Given the description of an element on the screen output the (x, y) to click on. 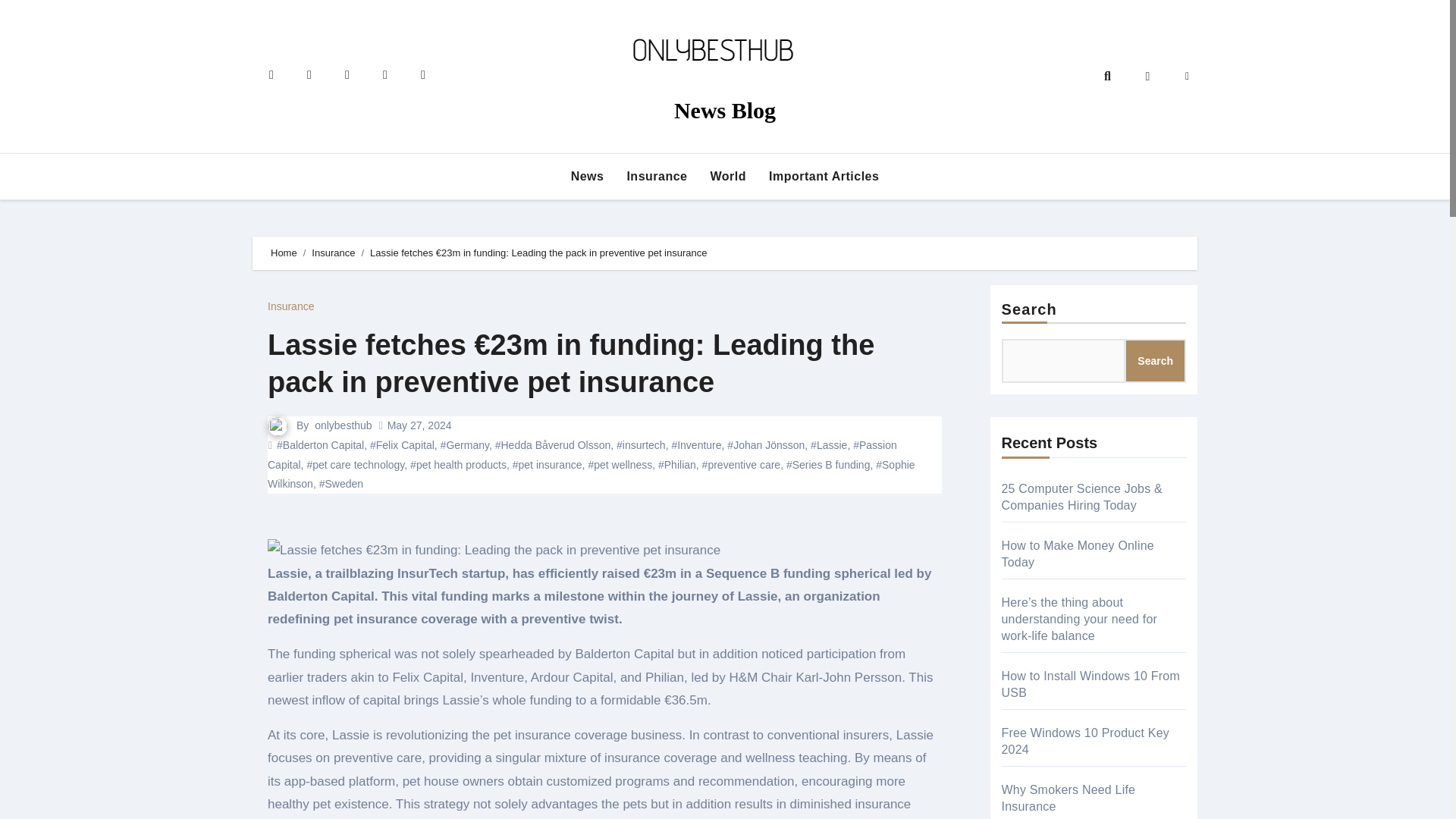
News (587, 176)
World (728, 176)
Important Articles (823, 176)
Important Articles (823, 176)
Insurance (333, 252)
Insurance (656, 176)
Home (283, 252)
Insurance (656, 176)
News Blog (725, 109)
onlybesthub (343, 425)
